Given the description of an element on the screen output the (x, y) to click on. 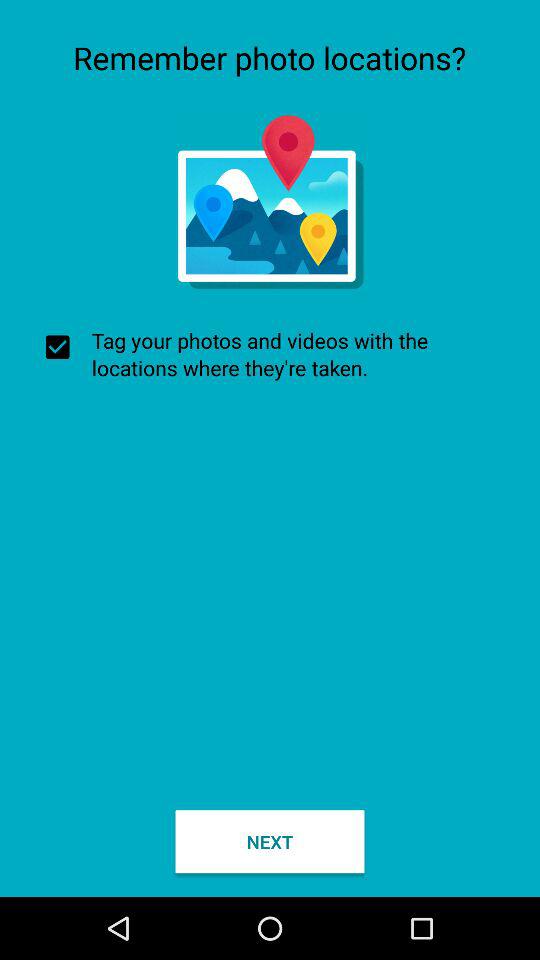
swipe to next (269, 841)
